Given the description of an element on the screen output the (x, y) to click on. 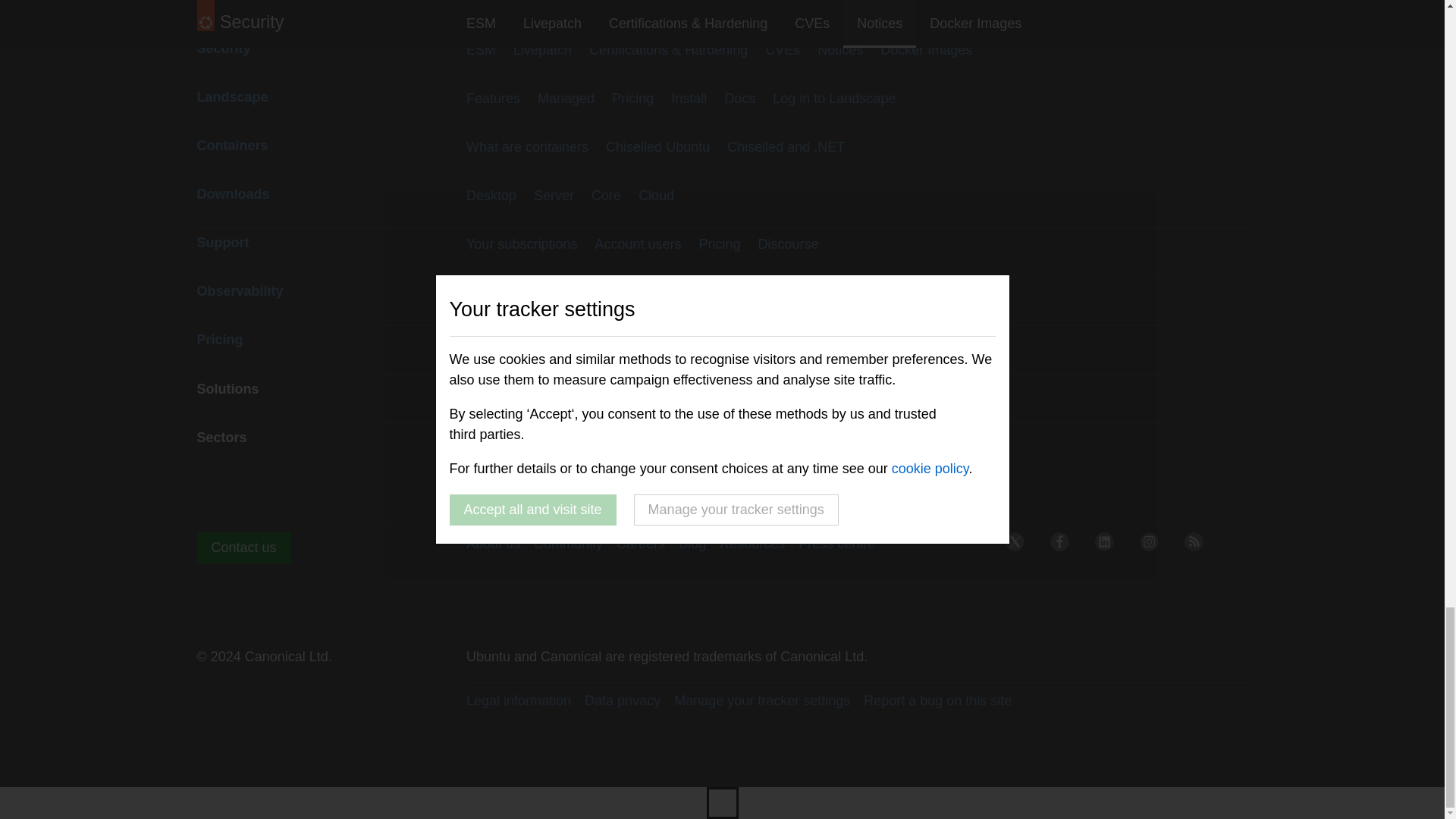
Follow Ubuntu on Twitter (1019, 545)
Follow Ubuntu on Instagram (1153, 545)
Find Canonical on LinkedIn (1108, 545)
Follow Ubuntu on Facebook (1063, 545)
Use the Ubuntu Blog rss feed (1198, 545)
